Given the description of an element on the screen output the (x, y) to click on. 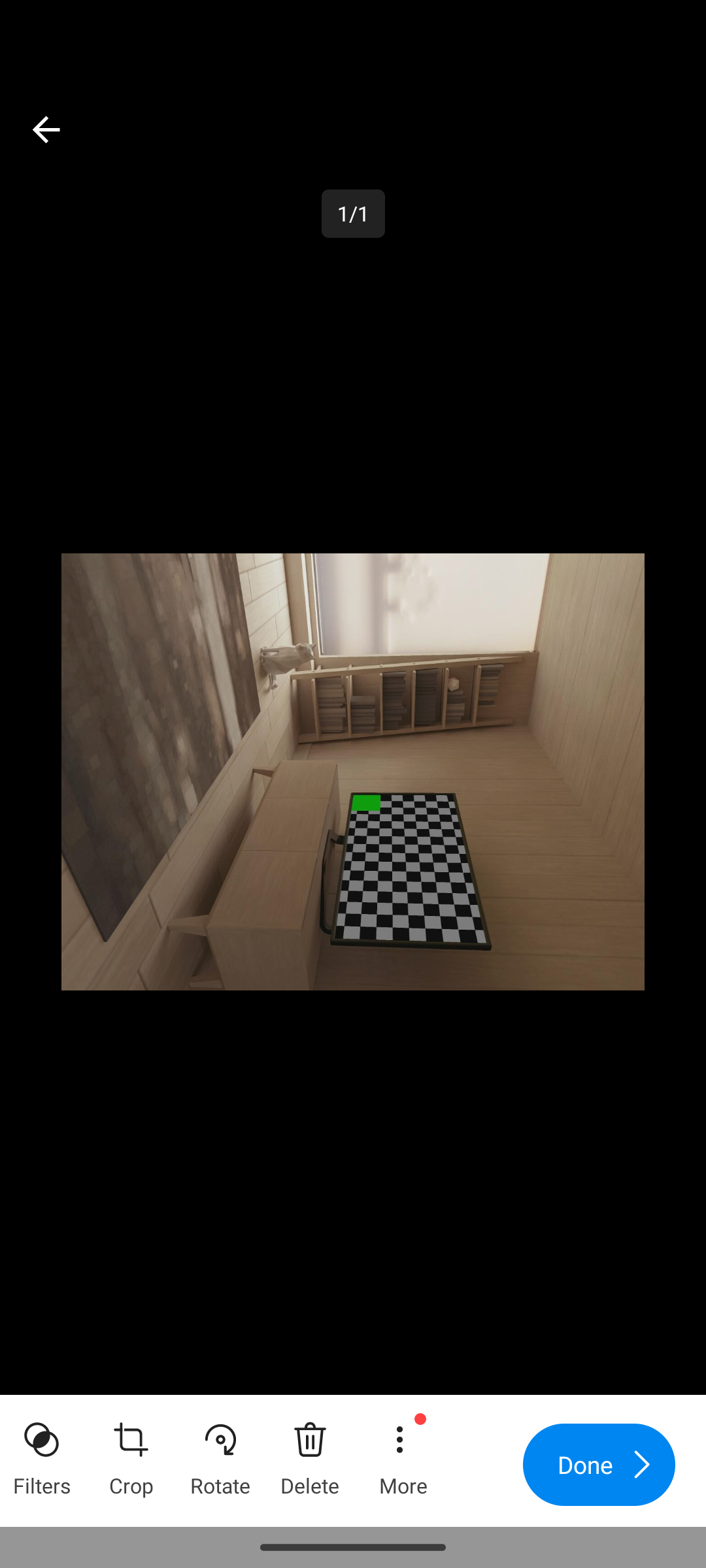
Back (46, 129)
Filters (41, 1453)
Crop (130, 1453)
Rotate (220, 1453)
Delete (309, 1453)
More (401, 1453)
Done (598, 1464)
